Given the description of an element on the screen output the (x, y) to click on. 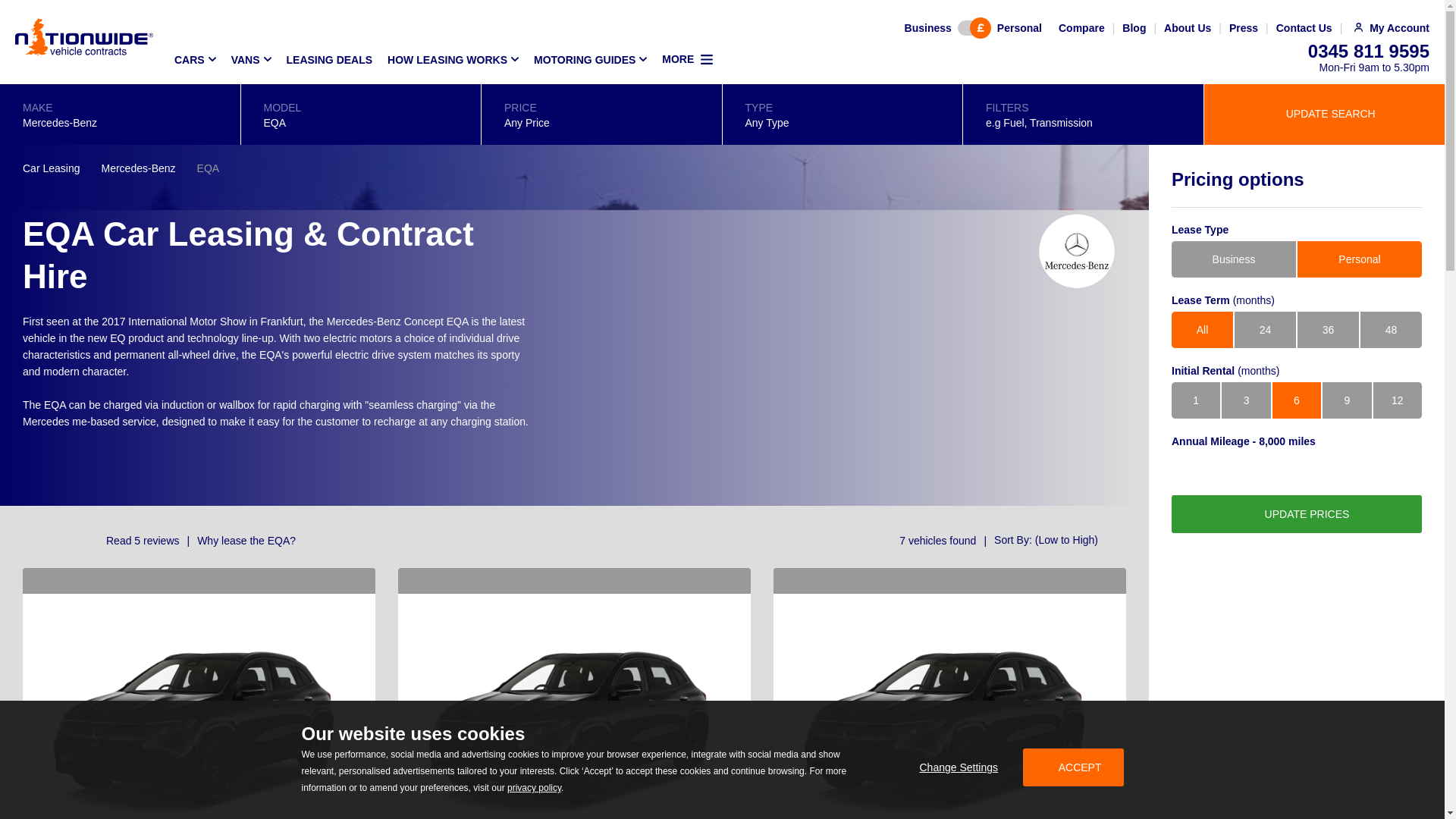
CARS (194, 58)
Personal (1019, 28)
Car Leasing (51, 167)
About Us (1187, 28)
Blog (1133, 28)
Mercedes-Benz (138, 167)
Why lease the EQA? (237, 540)
Contact Us (1304, 28)
My Account (1391, 28)
Press (1242, 28)
